Given the description of an element on the screen output the (x, y) to click on. 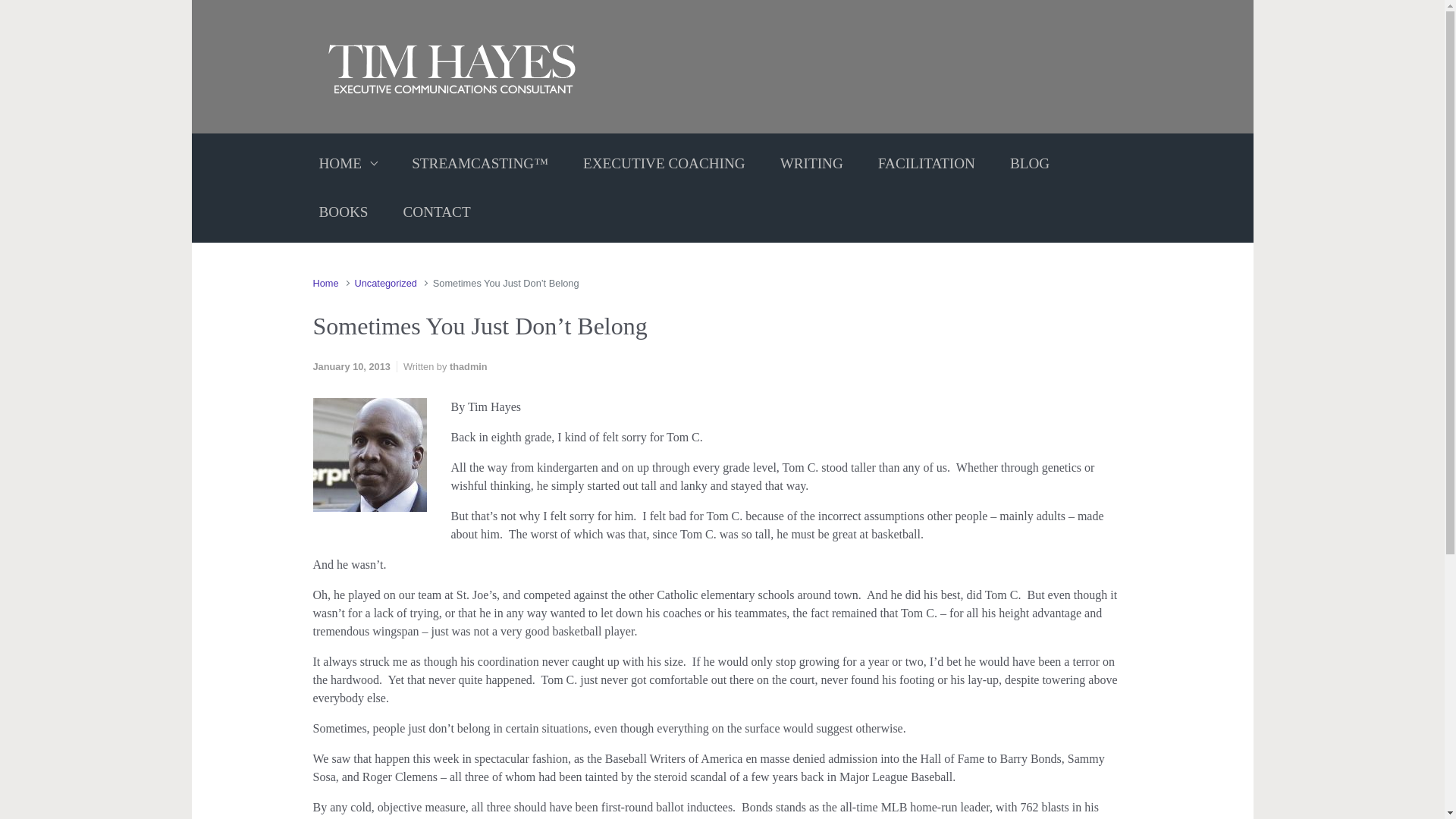
Barry Bonds (369, 454)
Uncategorized (384, 283)
Skip to main content (18, 10)
BOOKS (343, 212)
FACILITATION (926, 163)
thadmin (468, 366)
Home (325, 283)
WRITING (811, 163)
HOME (347, 163)
EXECUTIVE COACHING (663, 163)
